Given the description of an element on the screen output the (x, y) to click on. 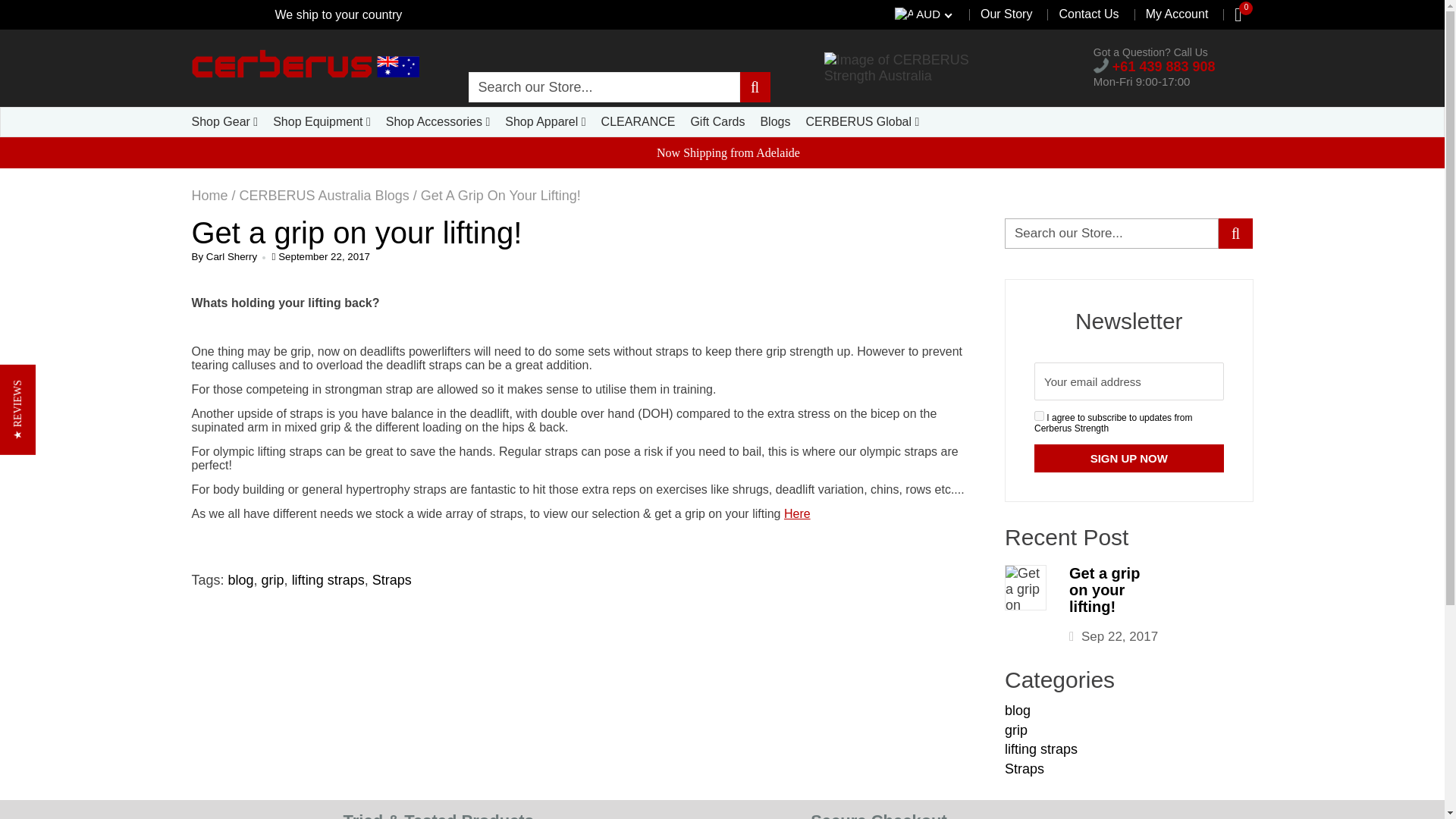
Show articles tagged Straps (1023, 768)
Here (797, 513)
Back to the home page (208, 195)
on (1038, 415)
SIGN UP NOW (1128, 458)
Show articles tagged blog (1017, 710)
Show articles tagged lifting straps (1040, 749)
Show articles tagged grip (1015, 729)
